Given the description of an element on the screen output the (x, y) to click on. 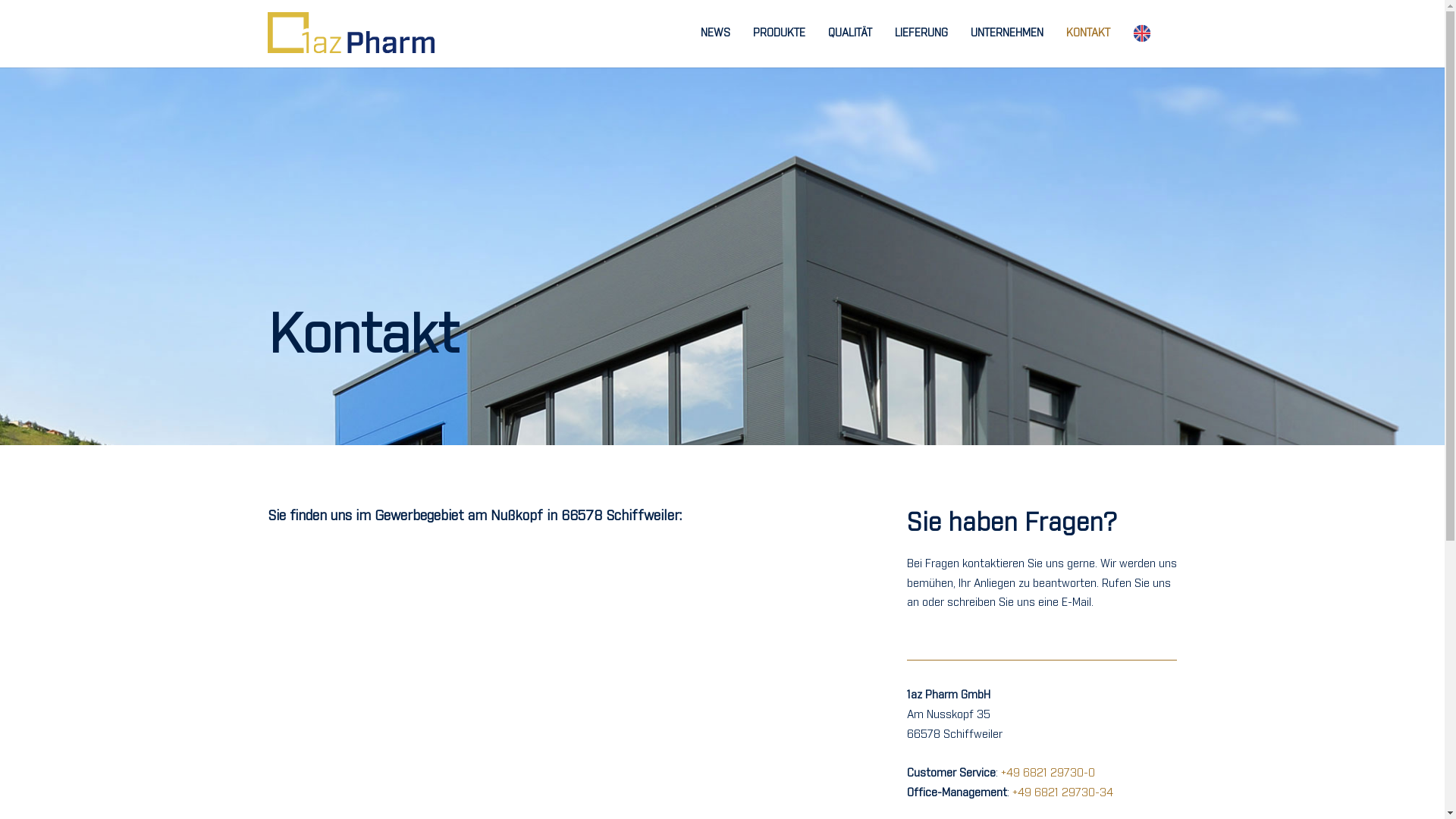
+49 6821 29730-0 Element type: text (1048, 773)
+49 6821 29730-34 Element type: text (1062, 792)
